Given the description of an element on the screen output the (x, y) to click on. 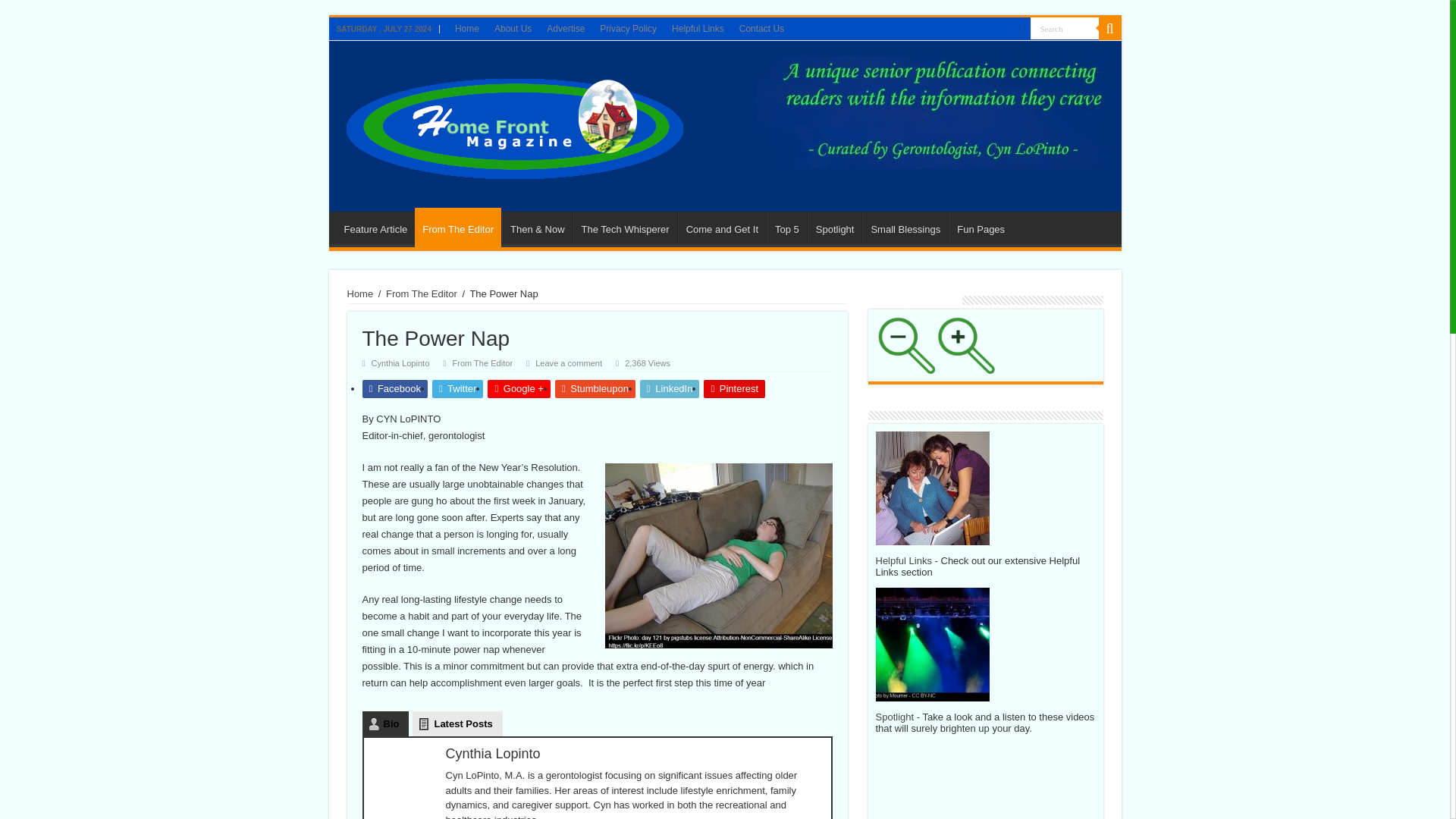
Come and Get It (721, 227)
Helpful Links (697, 28)
Fun Pages (980, 227)
Contact Us (762, 28)
Stumbleupon (594, 389)
Leave a comment (568, 362)
Facebook (395, 389)
Search (1063, 28)
Search (1063, 28)
Home (466, 28)
Search (1063, 28)
From The Editor (481, 362)
From The Editor (457, 227)
Small Blessings (904, 227)
Top 5 (786, 227)
